Given the description of an element on the screen output the (x, y) to click on. 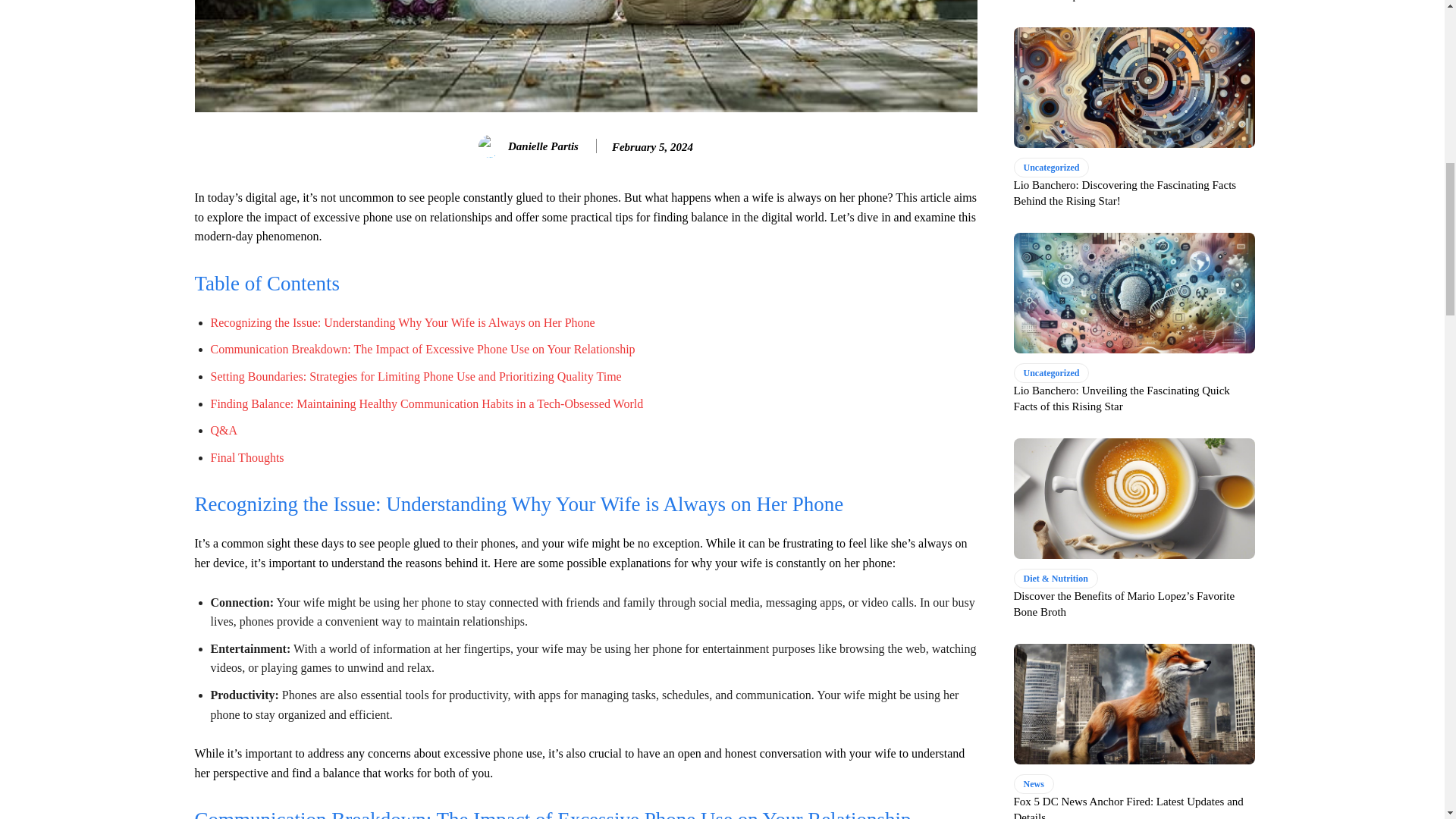
Danielle Partis (492, 146)
